Given the description of an element on the screen output the (x, y) to click on. 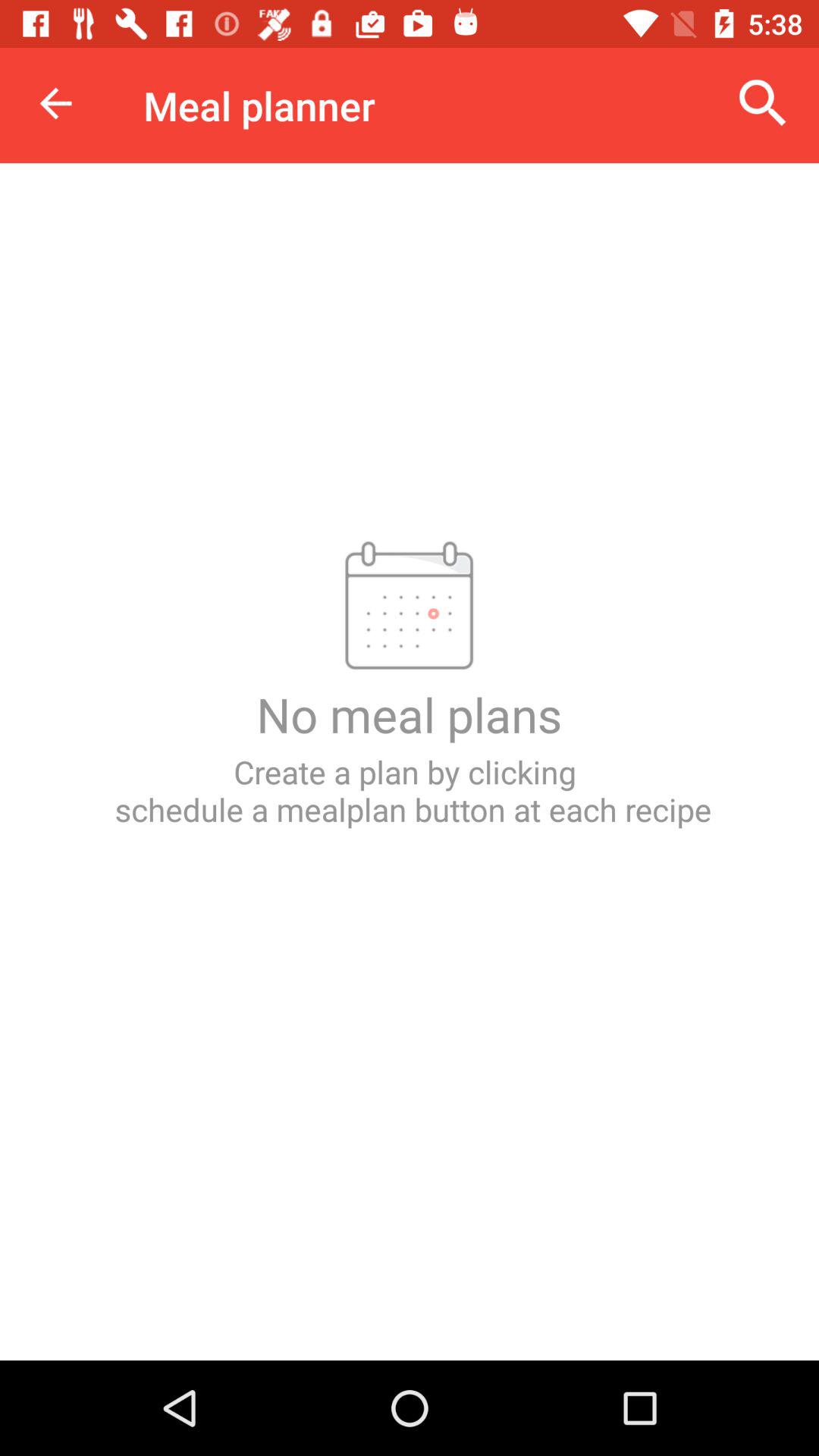
select the item above create a plan (763, 103)
